Given the description of an element on the screen output the (x, y) to click on. 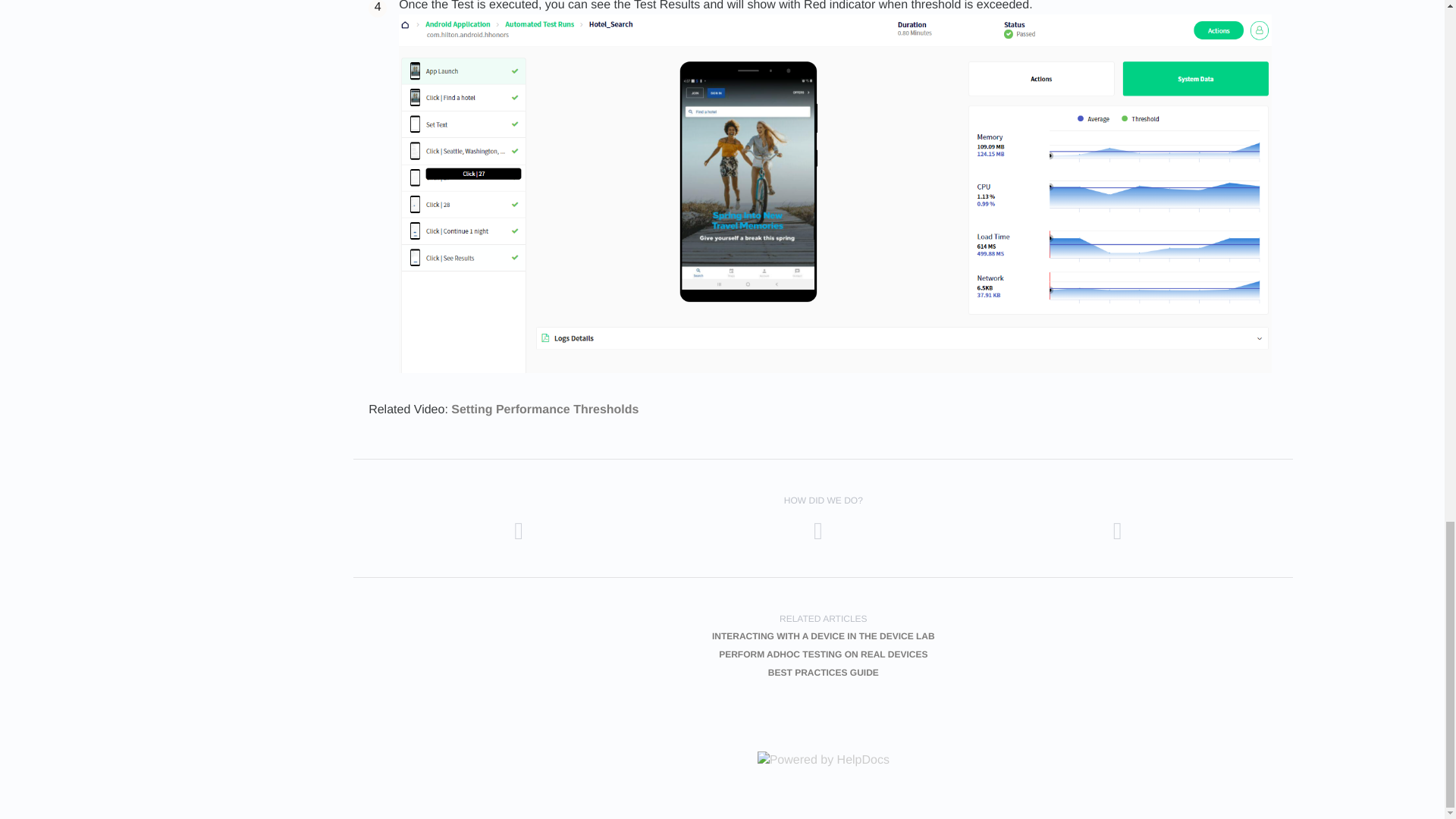
Powered by HelpDocs (823, 760)
